Given the description of an element on the screen output the (x, y) to click on. 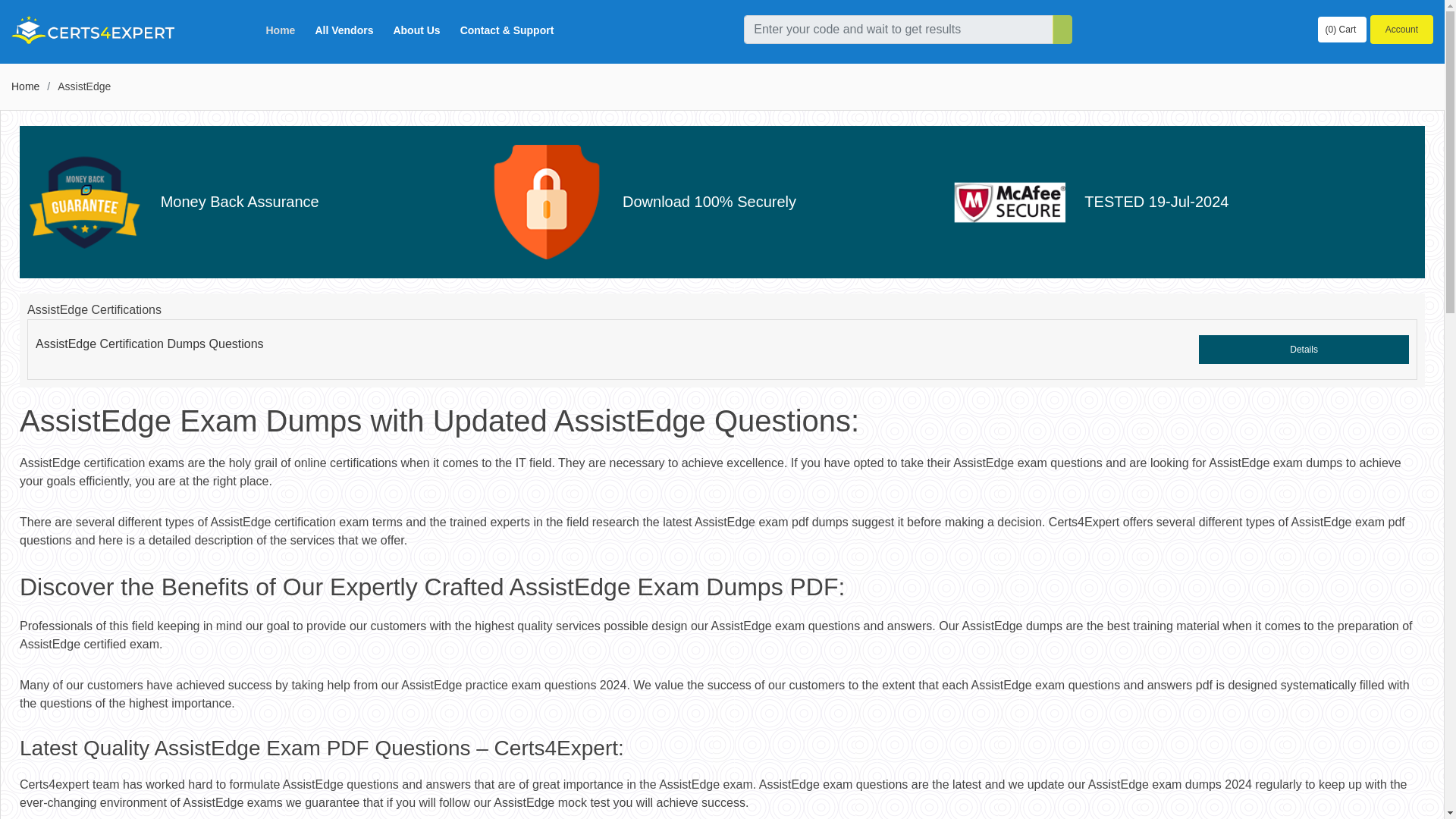
All Vendors (343, 30)
About Us (416, 30)
Details (1303, 348)
AssistEdge Certification Dumps Questions (148, 343)
Home (25, 86)
Home (280, 30)
Account (1401, 29)
